Given the description of an element on the screen output the (x, y) to click on. 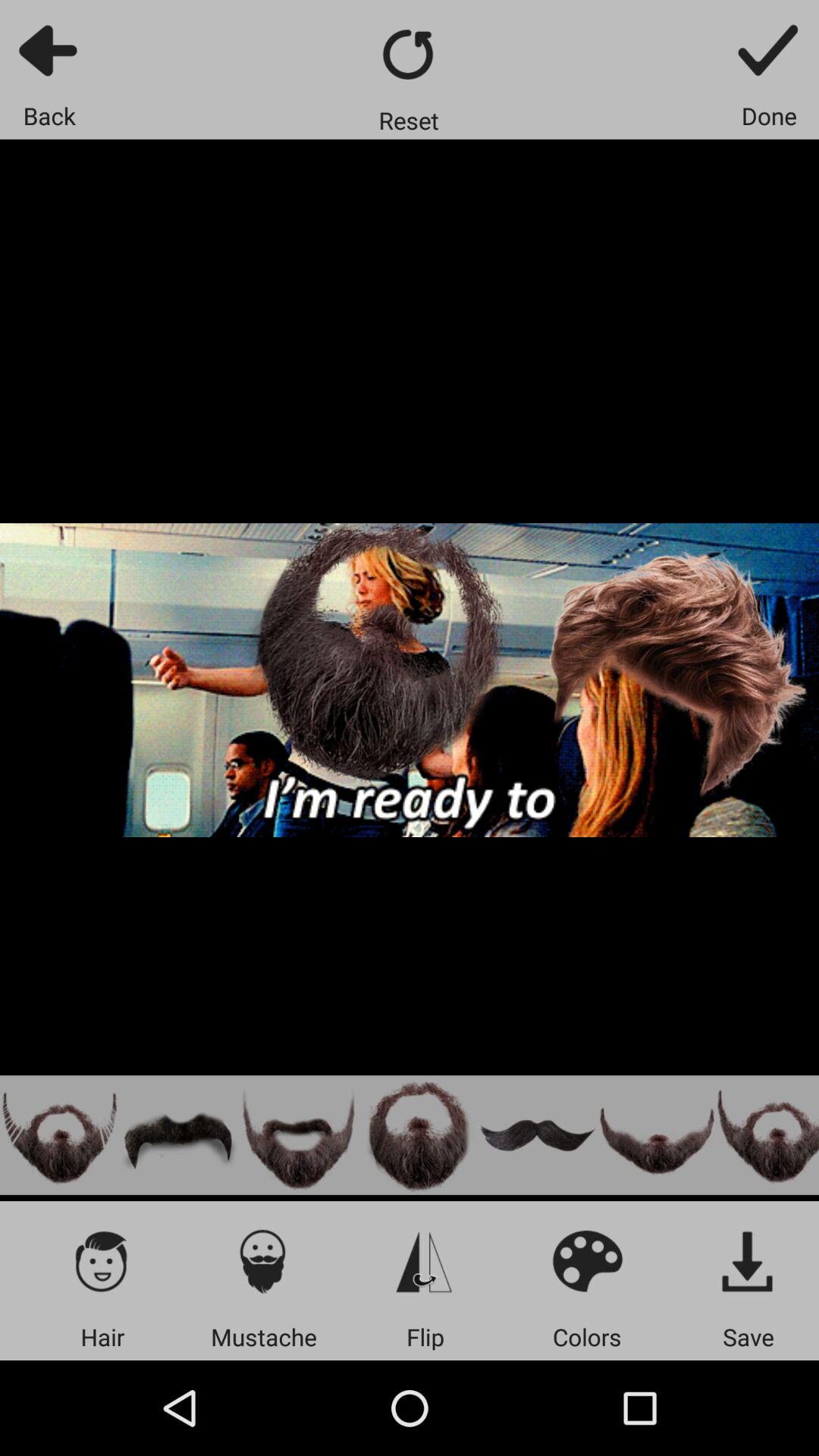
display colors (586, 1260)
